Given the description of an element on the screen output the (x, y) to click on. 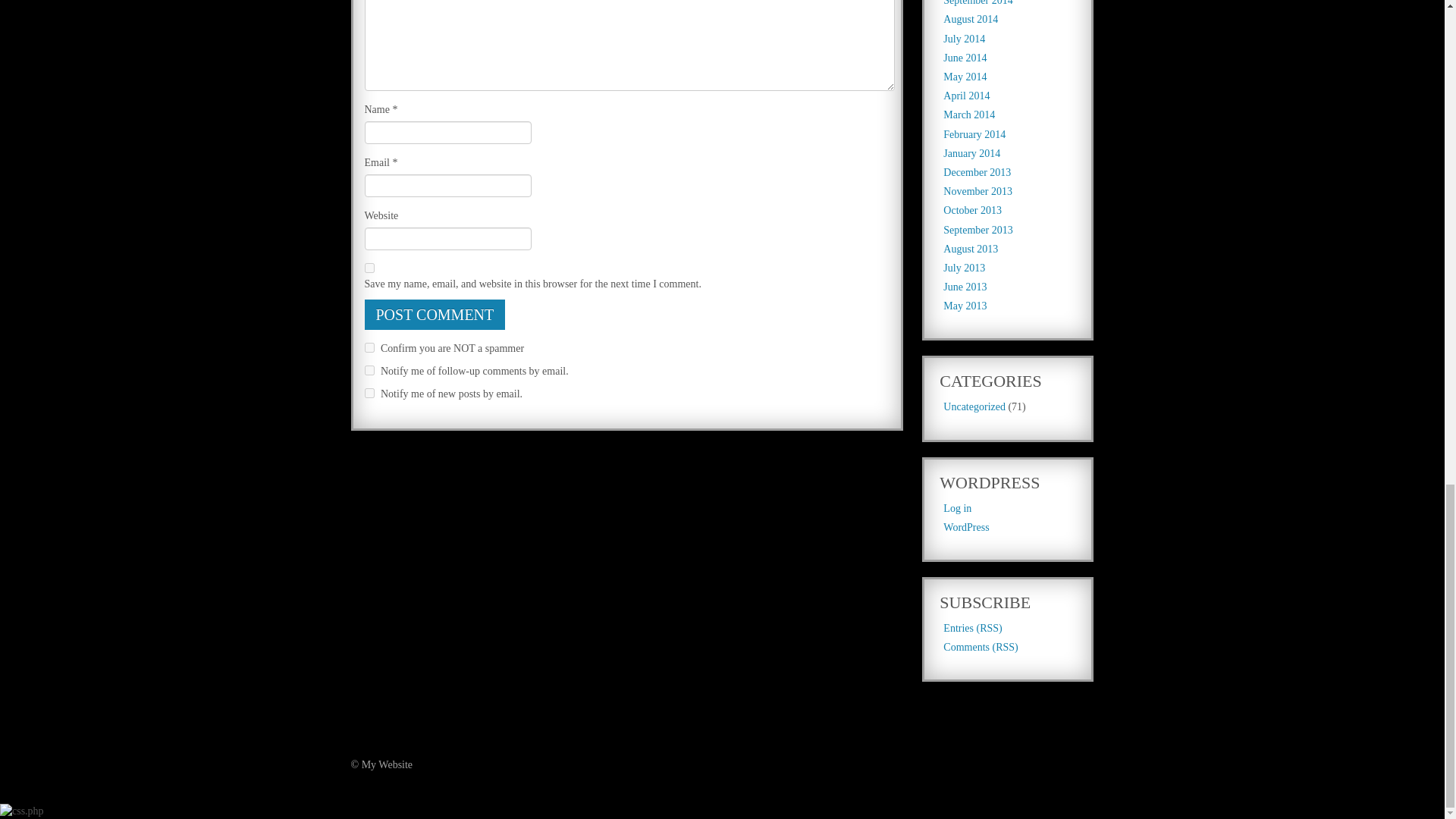
yes (369, 267)
on (369, 347)
Post Comment (434, 314)
subscribe (369, 393)
subscribe (369, 370)
Post Comment (434, 314)
